Given the description of an element on the screen output the (x, y) to click on. 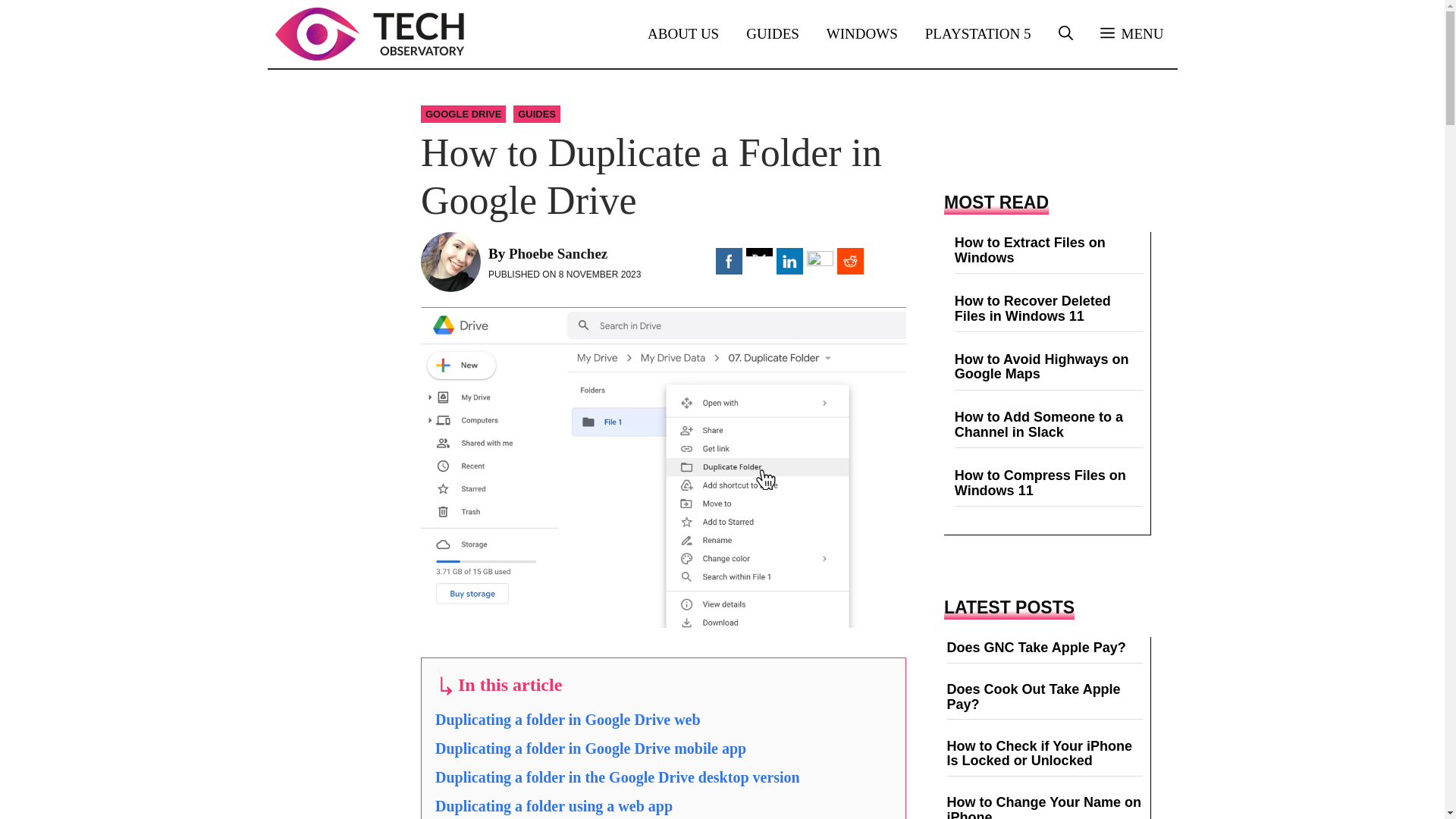
GUIDES (536, 113)
Phoebe Sanchez (557, 253)
Duplicating a folder using a web app (553, 805)
Twitter (759, 261)
MENU (1131, 33)
Duplicating a folder in the Google Drive desktop version (617, 777)
TechObservatory (369, 33)
WINDOWS (861, 33)
Duplicating a folder in Google Drive mobile app (590, 748)
PLAYSTATION 5 (978, 33)
